Given the description of an element on the screen output the (x, y) to click on. 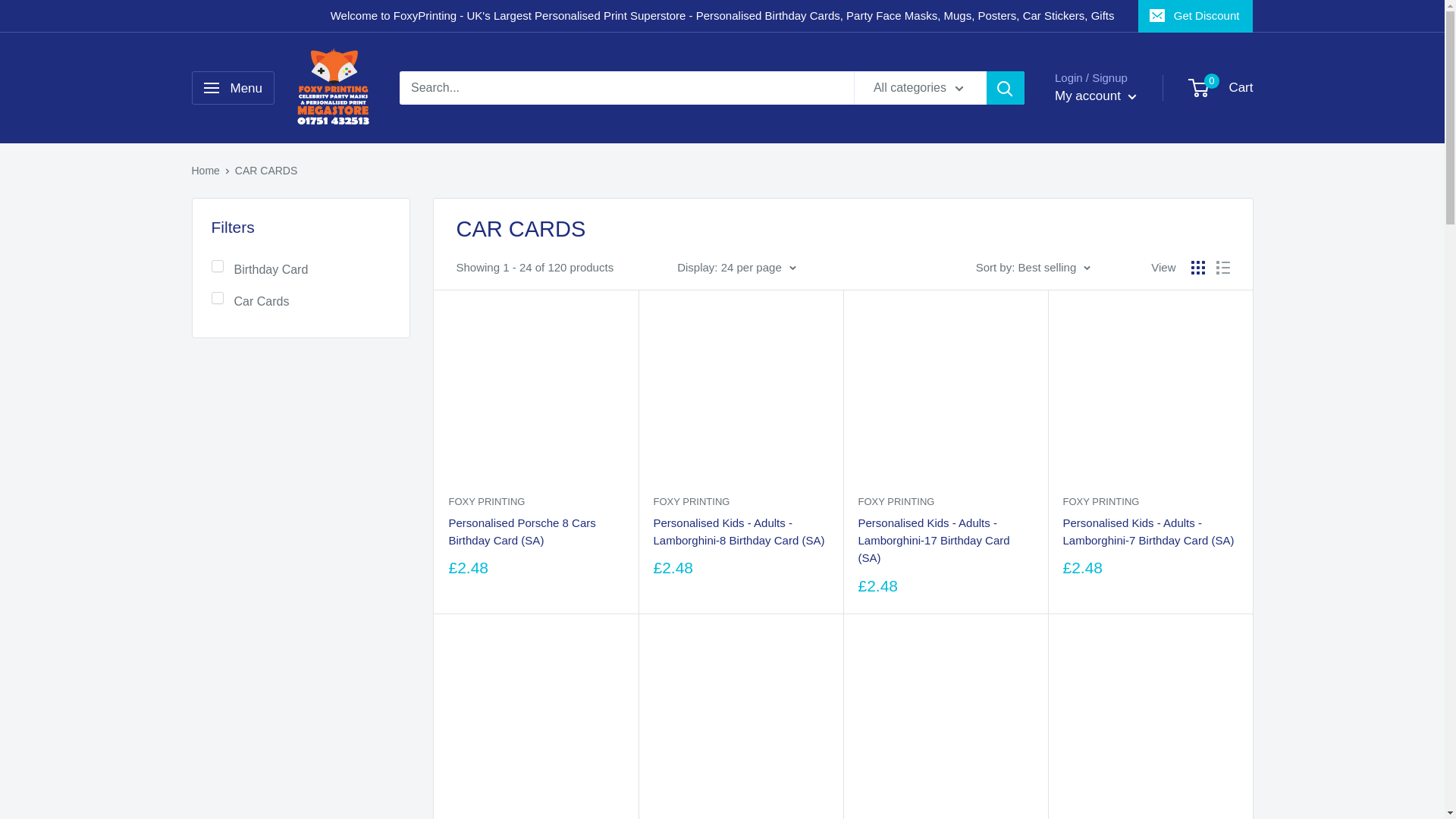
on (216, 265)
Get Discount (1195, 15)
on (216, 297)
